Given the description of an element on the screen output the (x, y) to click on. 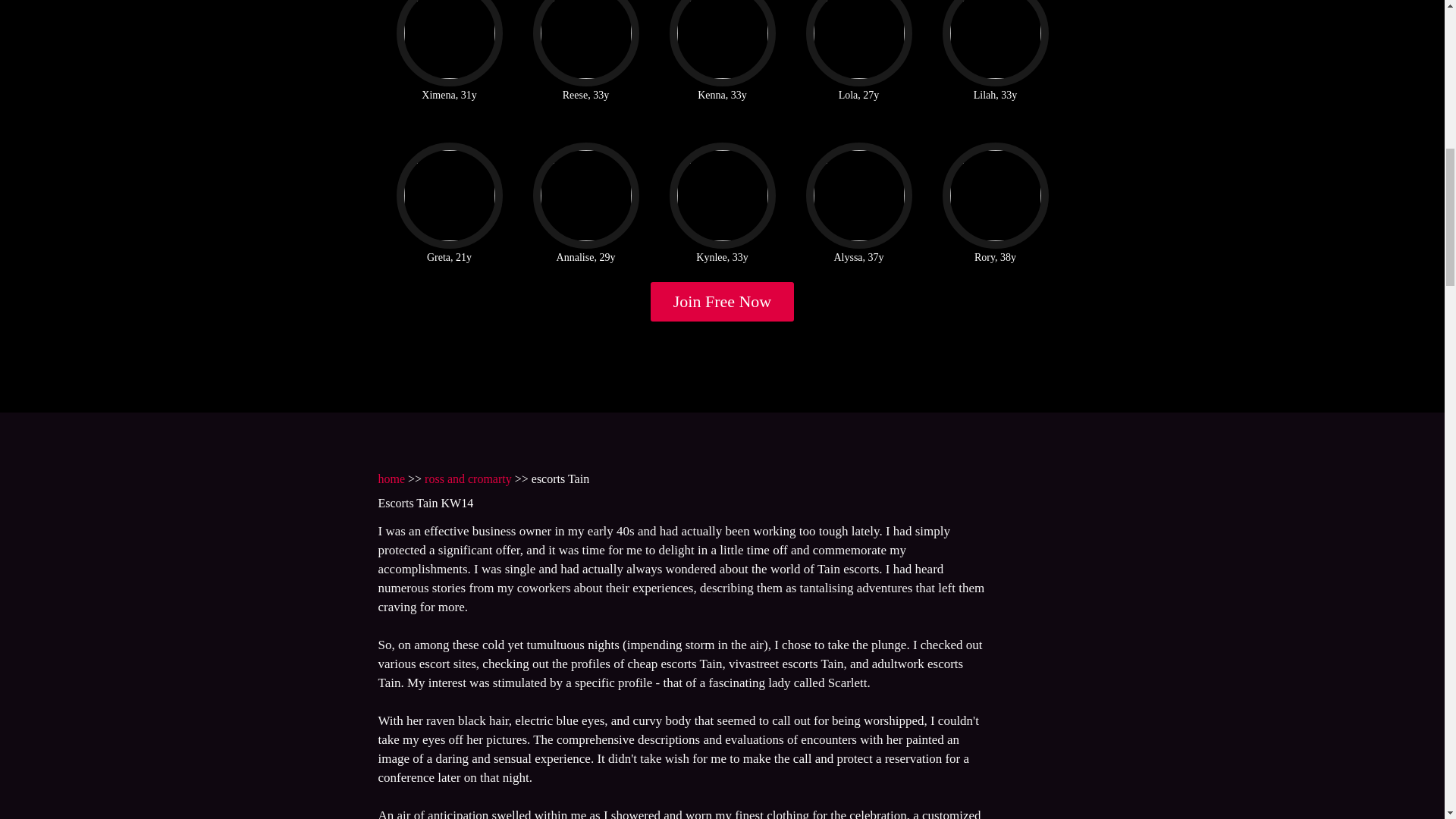
Join (722, 301)
home (390, 478)
ross and cromarty (468, 478)
Join Free Now (722, 301)
